Given the description of an element on the screen output the (x, y) to click on. 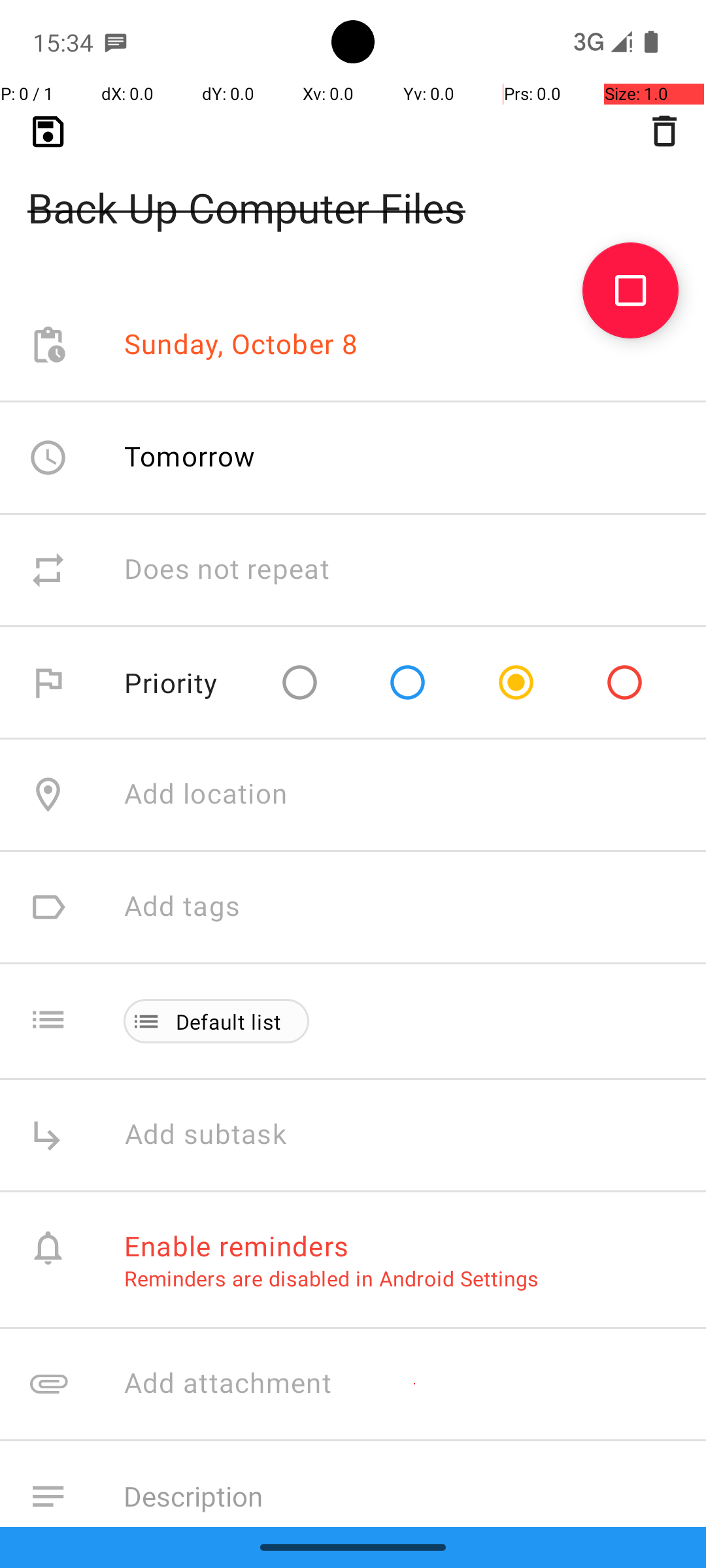
Back Up Computer Files Element type: android.widget.EditText (353, 186)
Sunday, October 8 Element type: android.widget.TextView (240, 344)
